Given the description of an element on the screen output the (x, y) to click on. 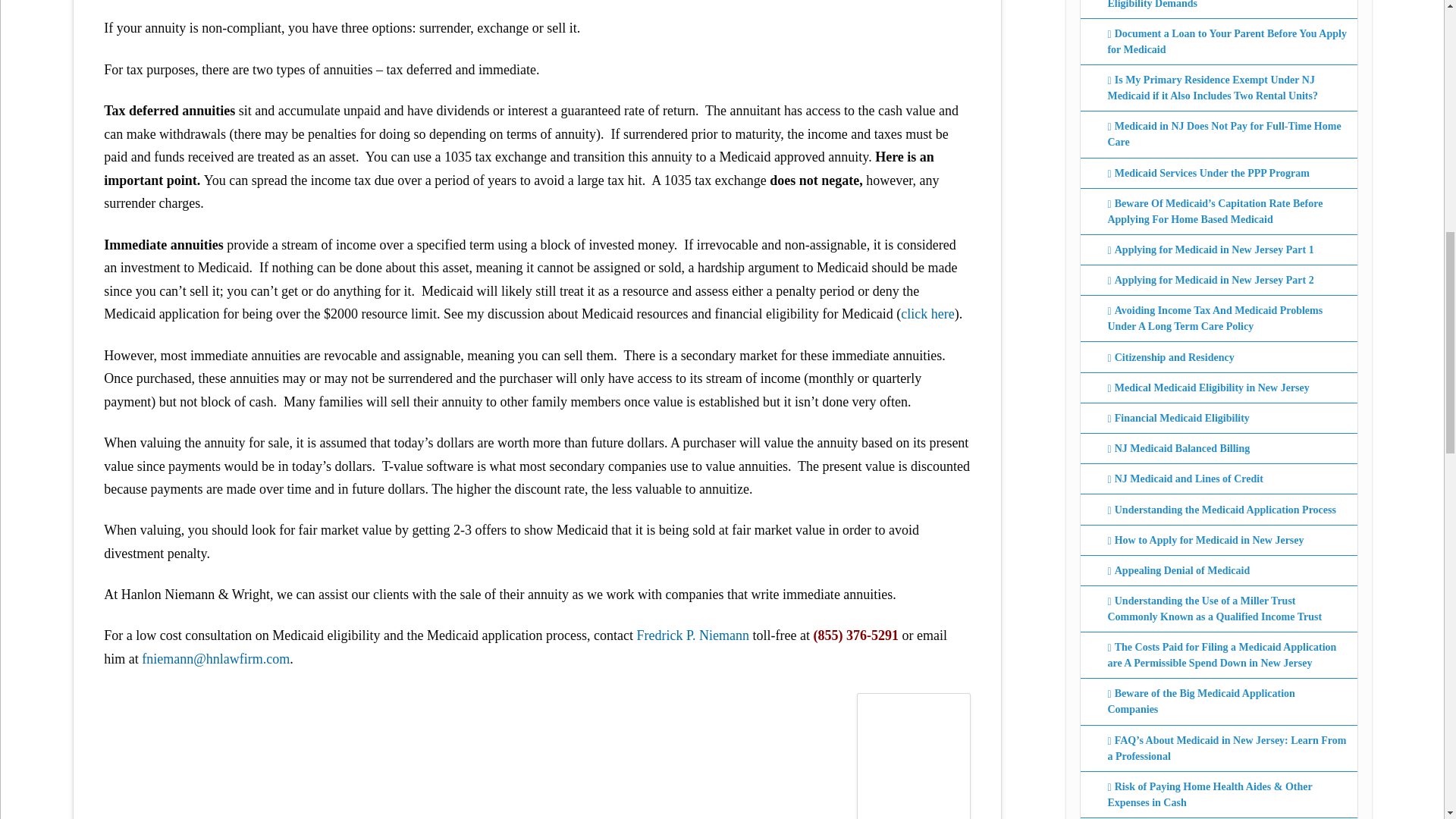
click here (927, 313)
Fredrick P. Niemann (692, 635)
